Given the description of an element on the screen output the (x, y) to click on. 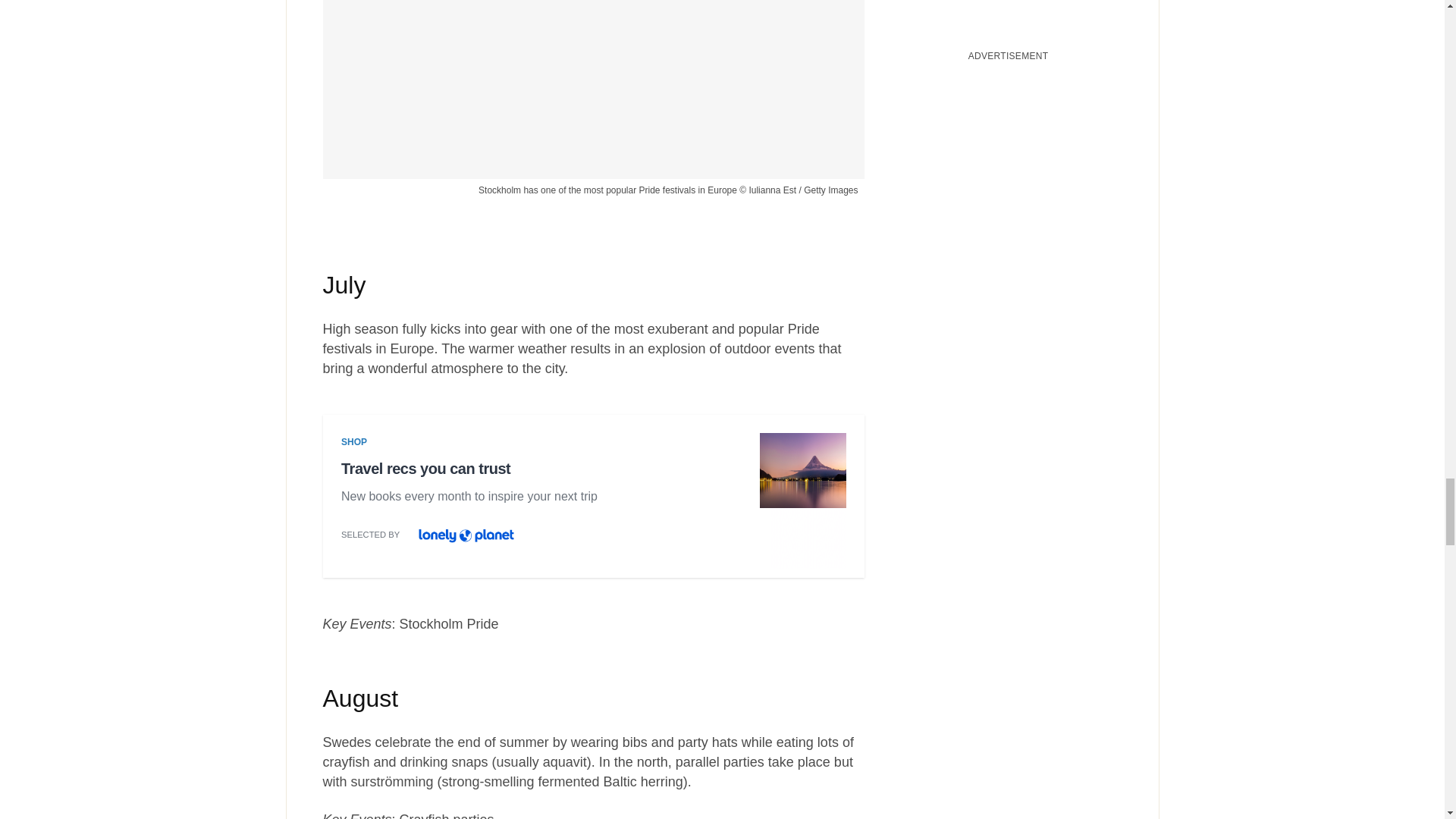
3rd party ad content (592, 500)
